Given the description of an element on the screen output the (x, y) to click on. 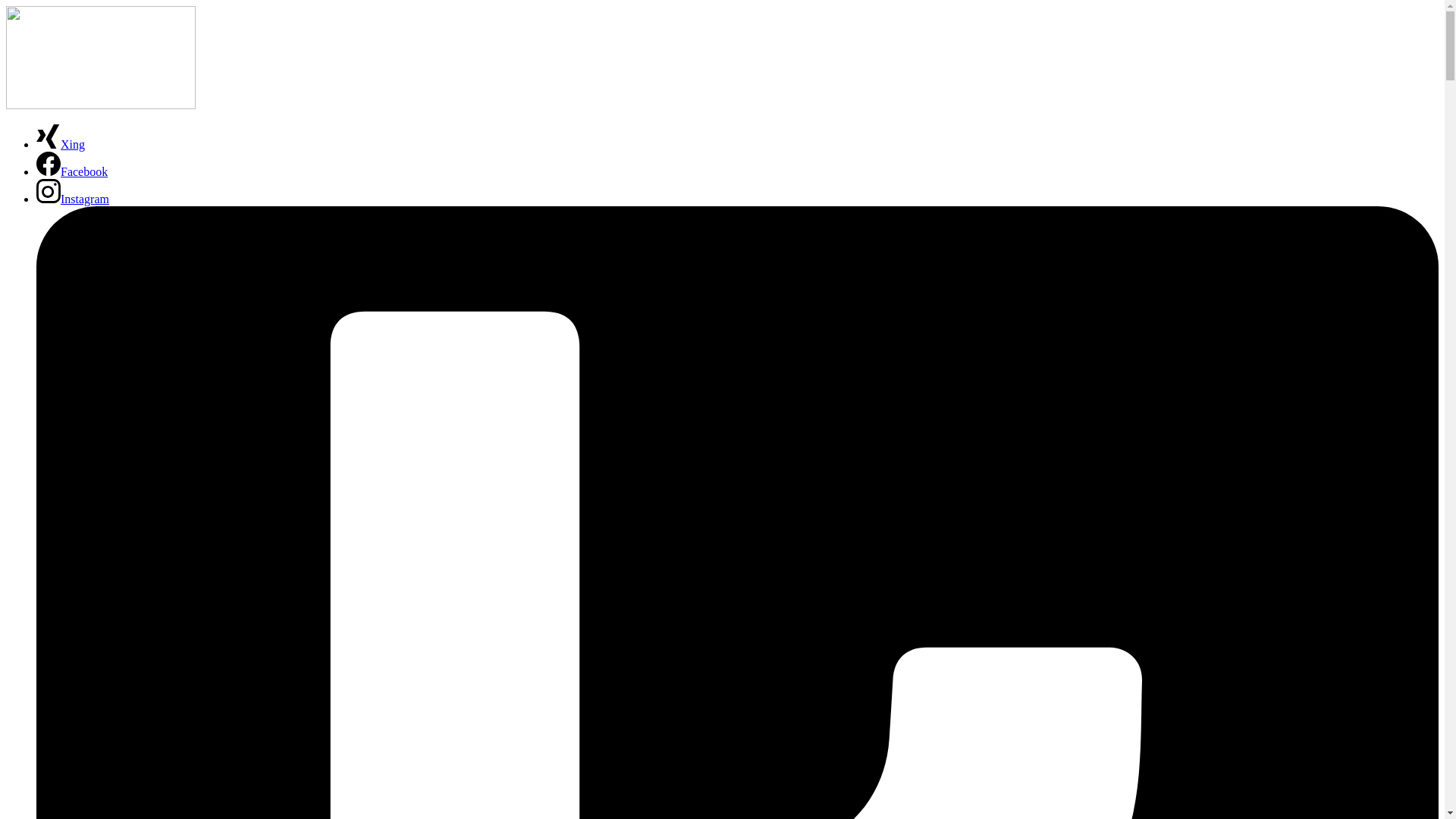
Xing (60, 144)
Captrain (100, 104)
Facebook (71, 171)
Facebook (71, 171)
Instagram (72, 198)
Instagram (72, 198)
Xing (60, 144)
